Given the description of an element on the screen output the (x, y) to click on. 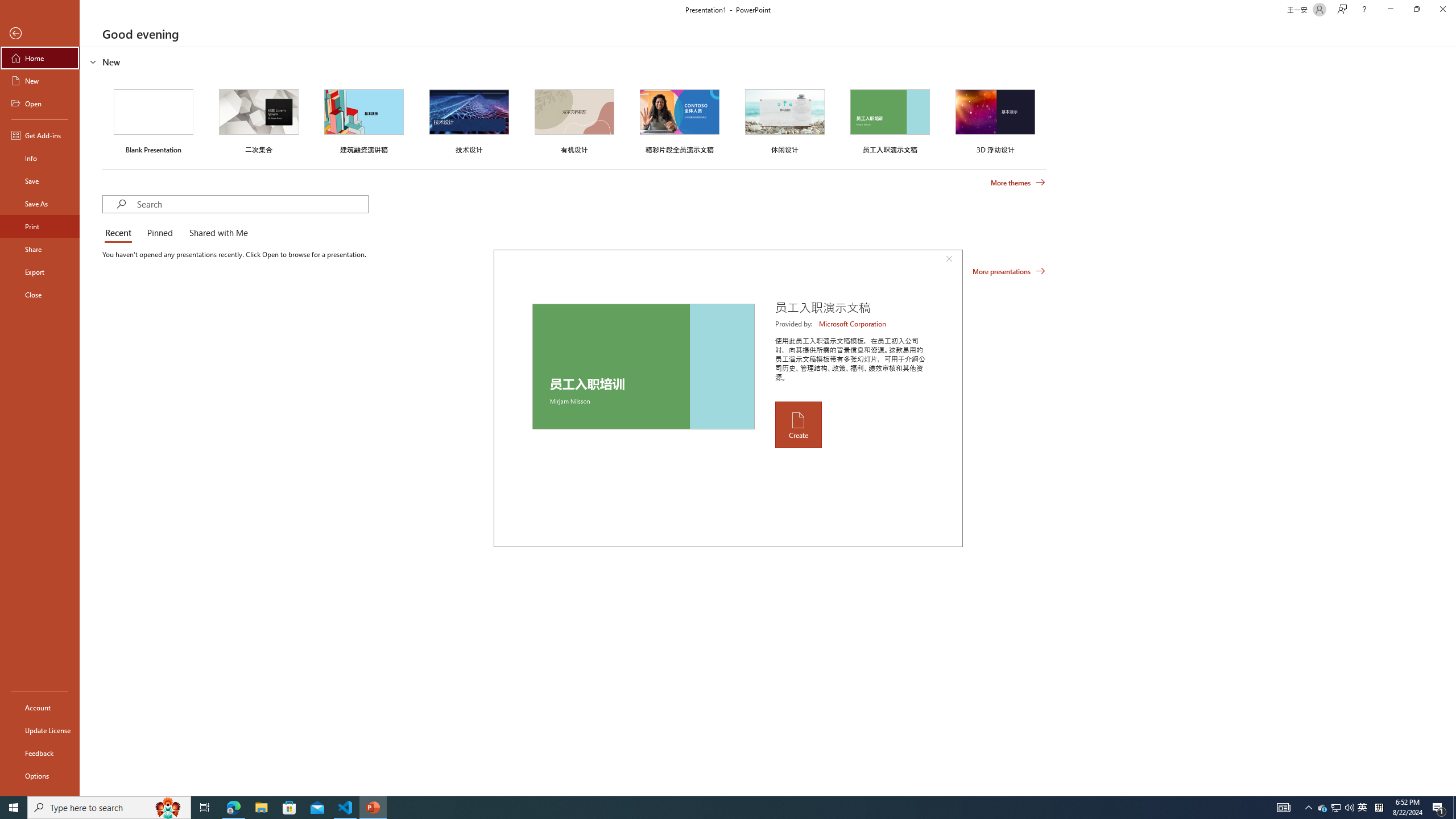
Save As (40, 203)
Recent (119, 233)
Help (1364, 9)
Microsoft Corporation (853, 323)
Open (40, 102)
System (6, 6)
Info (40, 157)
Back (40, 33)
Blank Presentation (153, 119)
Class: NetUIScrollBar (1450, 421)
Restore Down (1416, 9)
Shared with Me (215, 233)
